Given the description of an element on the screen output the (x, y) to click on. 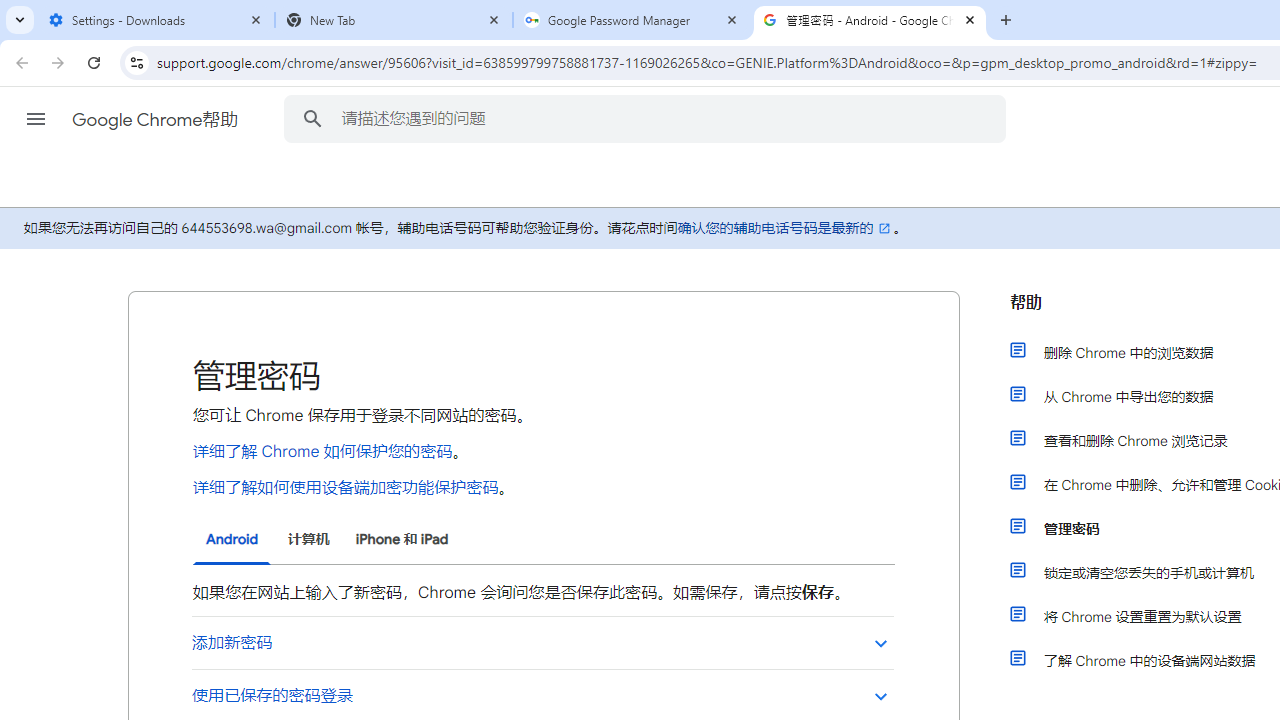
Android (232, 540)
Google Password Manager (632, 20)
